Given the description of an element on the screen output the (x, y) to click on. 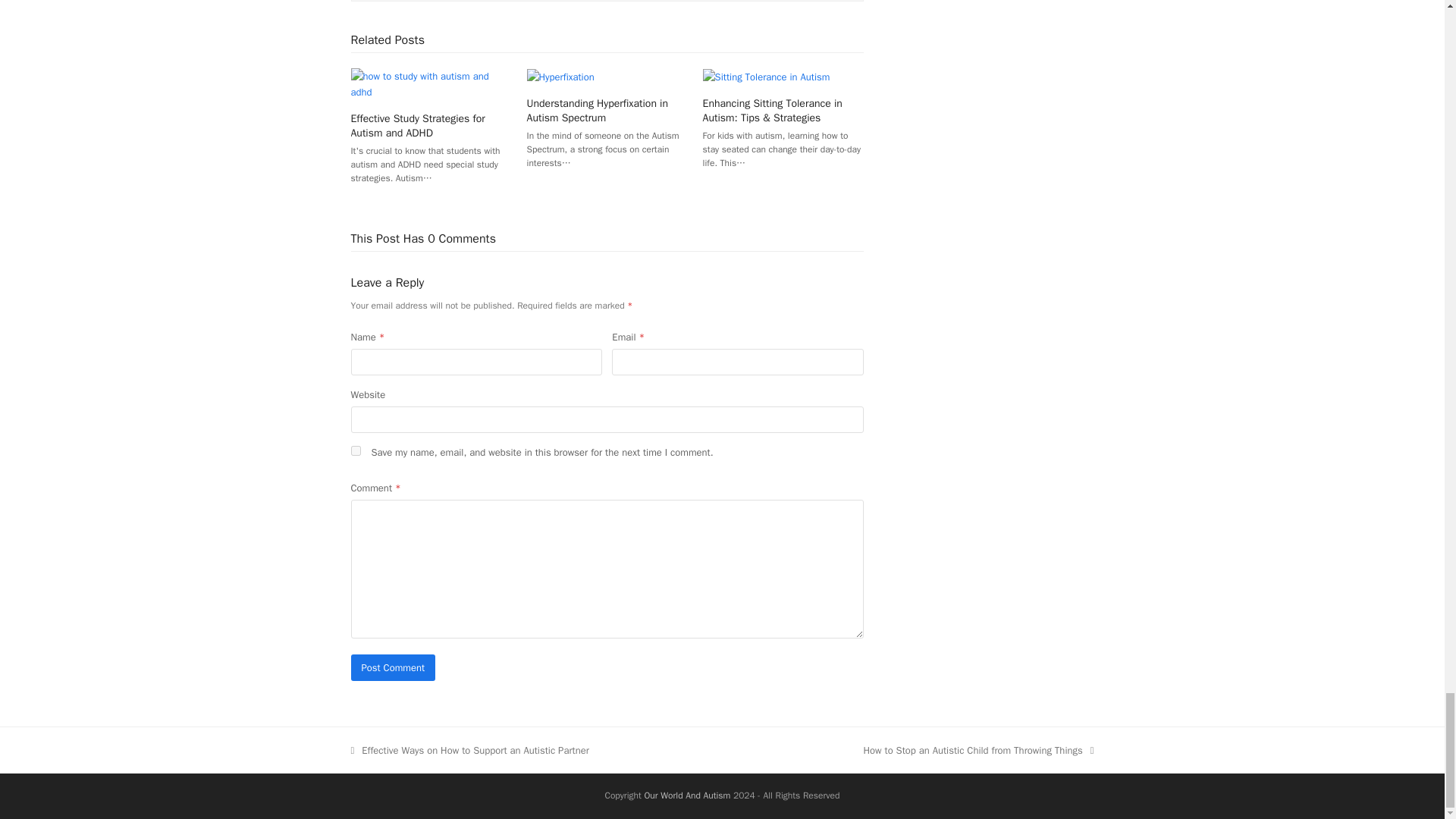
Effective Study Strategies for Autism and ADHD (417, 125)
Effective Study Strategies for Autism and ADHD (430, 82)
Understanding Hyperfixation in Autism Spectrum (597, 110)
yes (354, 450)
Our World And Autism (686, 795)
Post Comment (392, 667)
Post Comment (392, 667)
Understanding Hyperfixation in Autism Spectrum (560, 75)
